Given the description of an element on the screen output the (x, y) to click on. 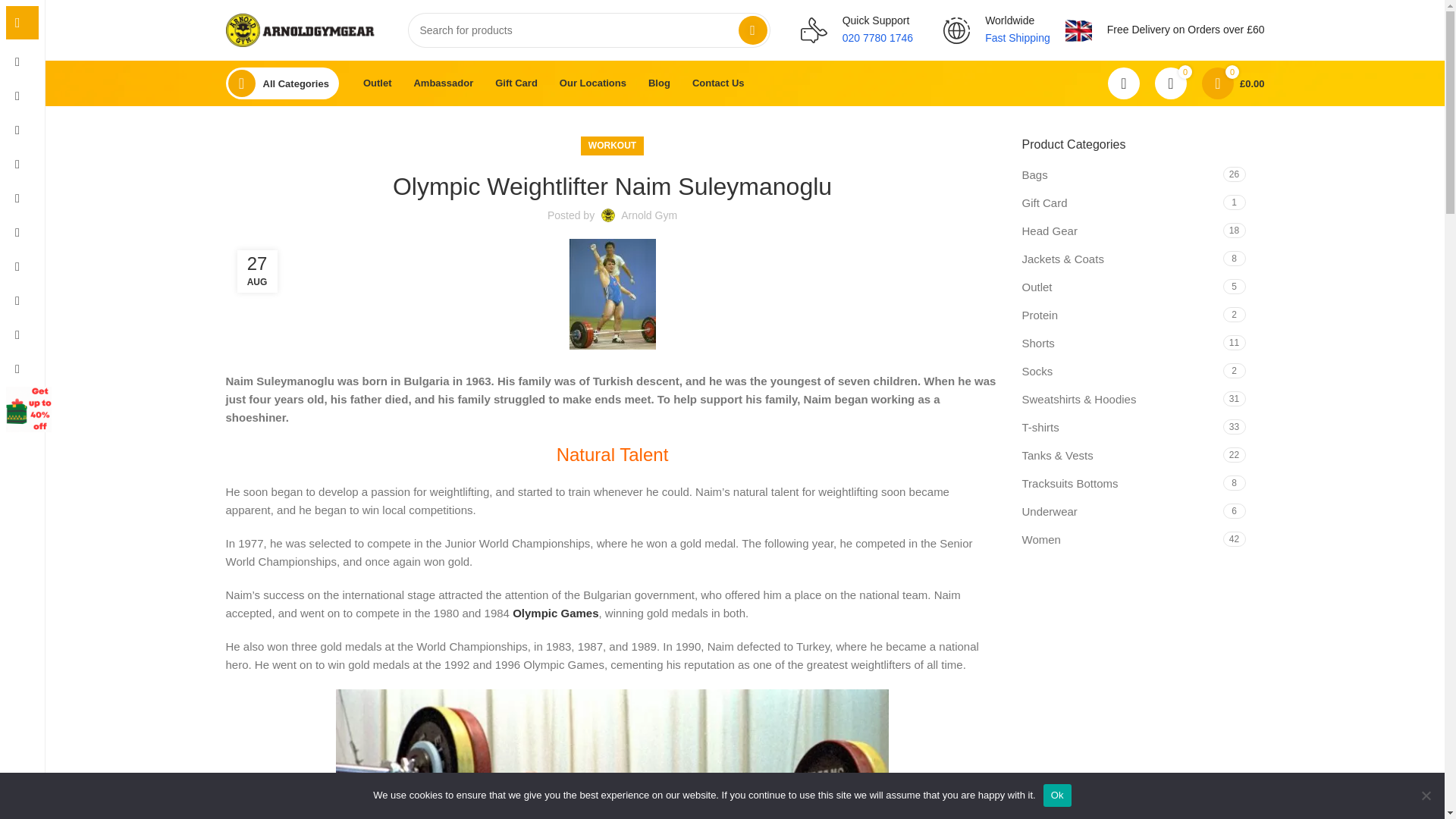
turkish weighlifting legend naim suleymanoglu (612, 754)
Outlet (377, 82)
WORKOUT (612, 145)
Our Locations (592, 82)
Olympic Games (555, 612)
0 (1170, 82)
My Wishlist (1170, 82)
Blog (659, 82)
Search for products (588, 30)
Ambassador (442, 82)
All Categories (282, 82)
SEARCH (752, 30)
Gift Card (516, 82)
Shopping cart (1232, 82)
